Given the description of an element on the screen output the (x, y) to click on. 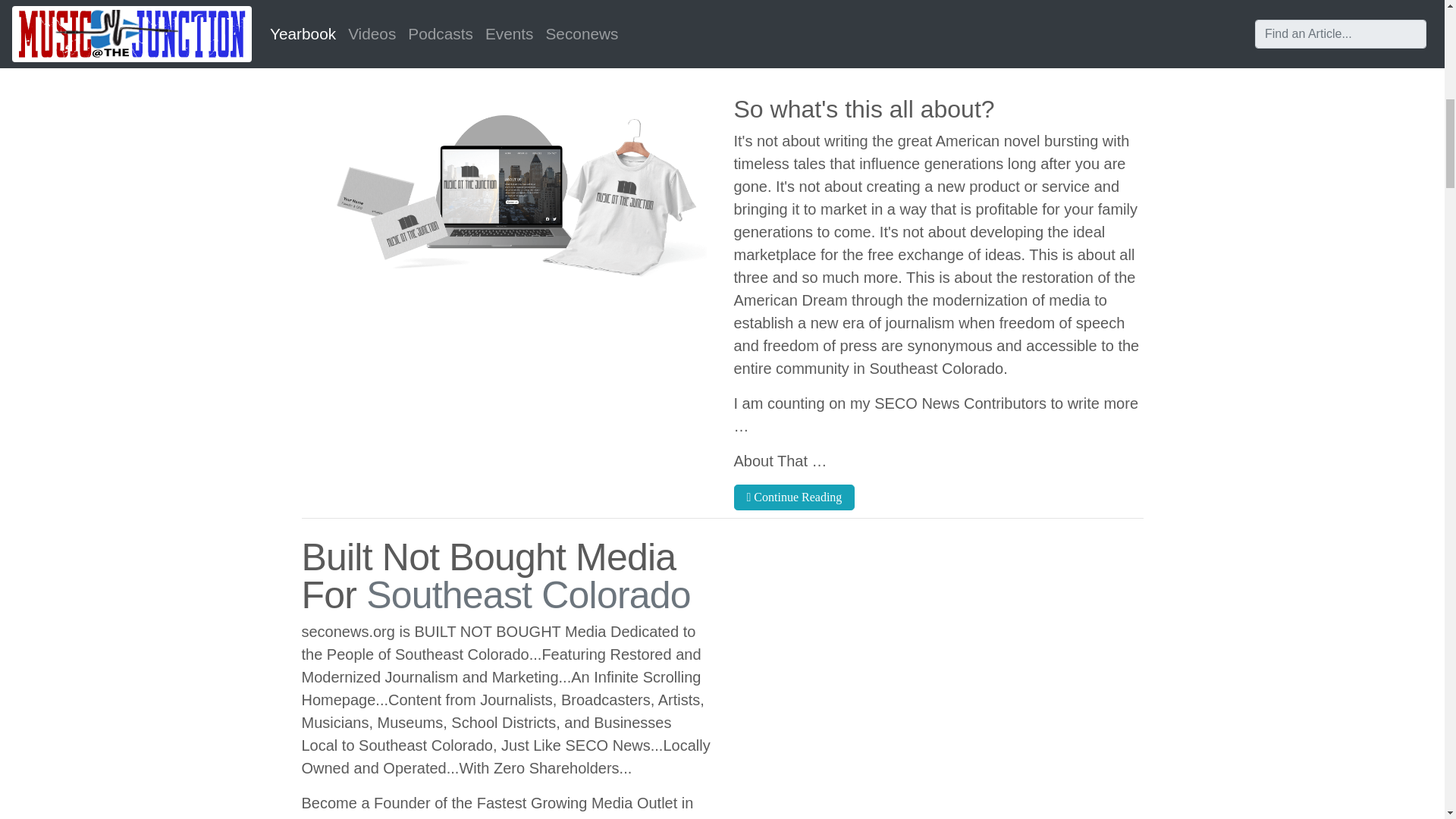
Continue Reading (794, 497)
SPOTIFY (829, 7)
Donate To Support (829, 7)
SWAP SHOP (425, 7)
ABOUT US (627, 7)
